Given the description of an element on the screen output the (x, y) to click on. 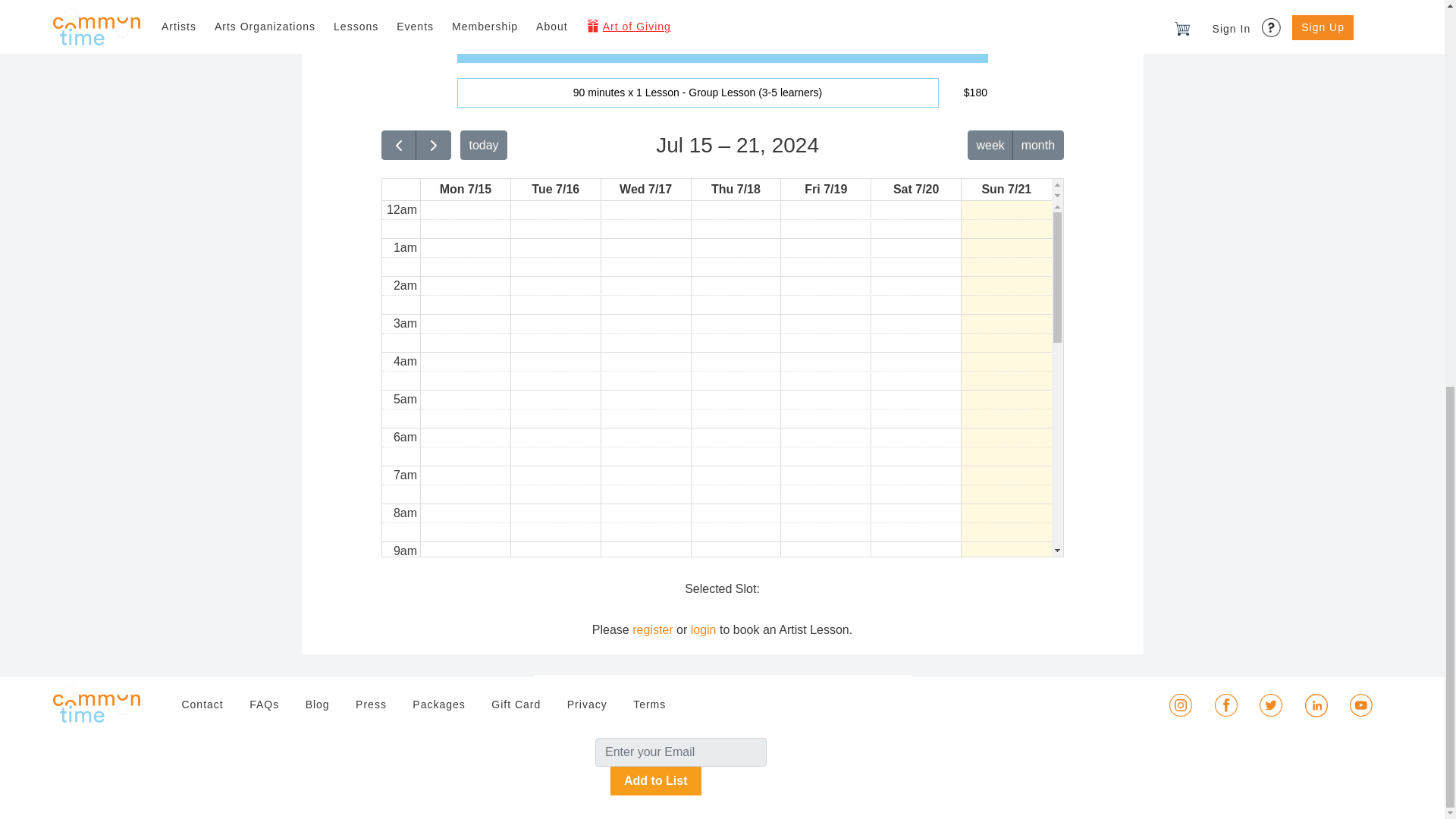
4am (400, 361)
1am (405, 248)
Blog (317, 704)
5am (400, 399)
1am (400, 248)
8am (405, 513)
4am (405, 361)
10am (400, 588)
Gift Card (516, 704)
FAQs (263, 704)
11am (400, 627)
12pm (400, 665)
Contact (201, 704)
